Given the description of an element on the screen output the (x, y) to click on. 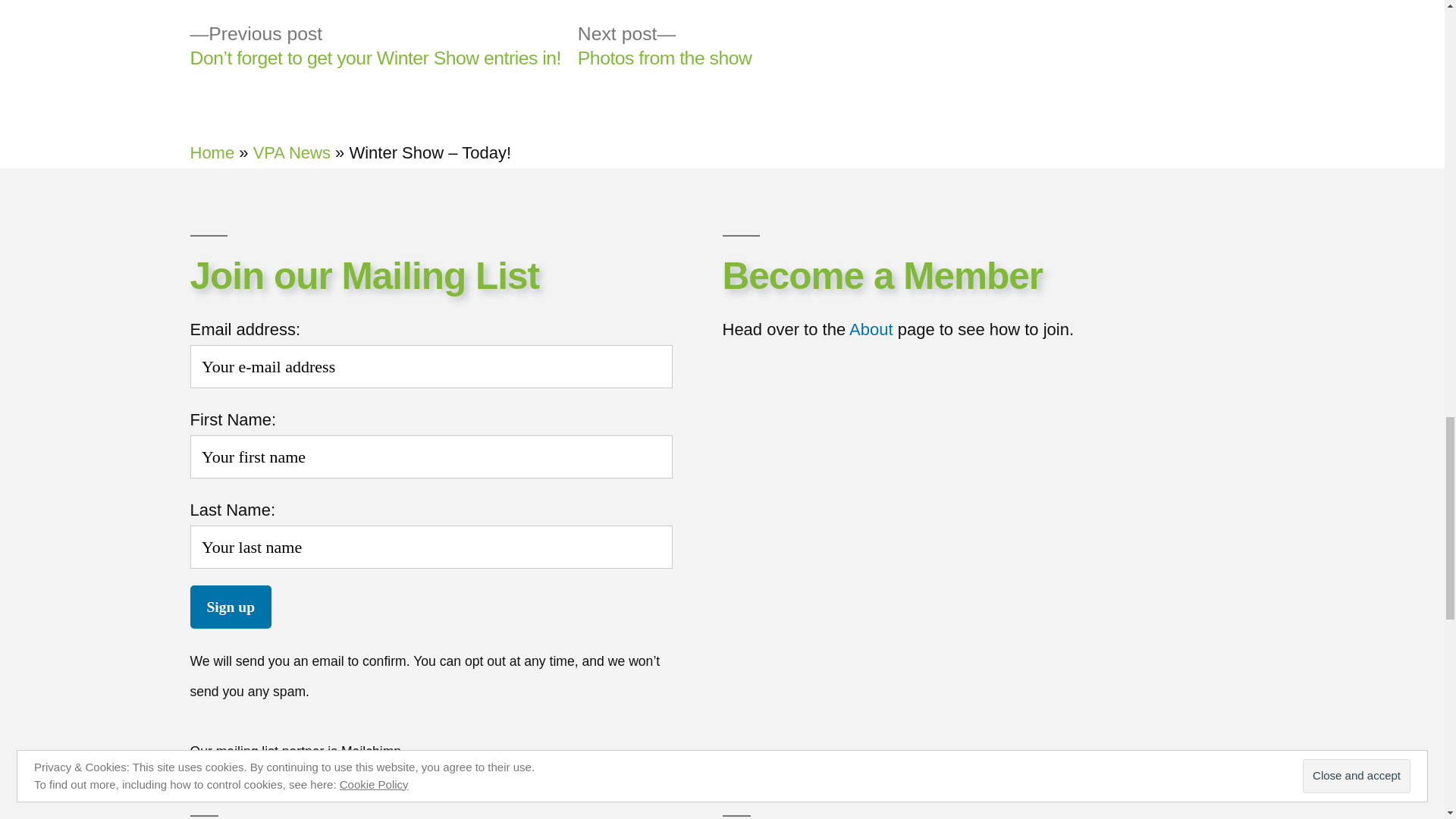
Sign up (229, 606)
Home (211, 152)
VPA News (291, 152)
Sign up (229, 606)
